Given the description of an element on the screen output the (x, y) to click on. 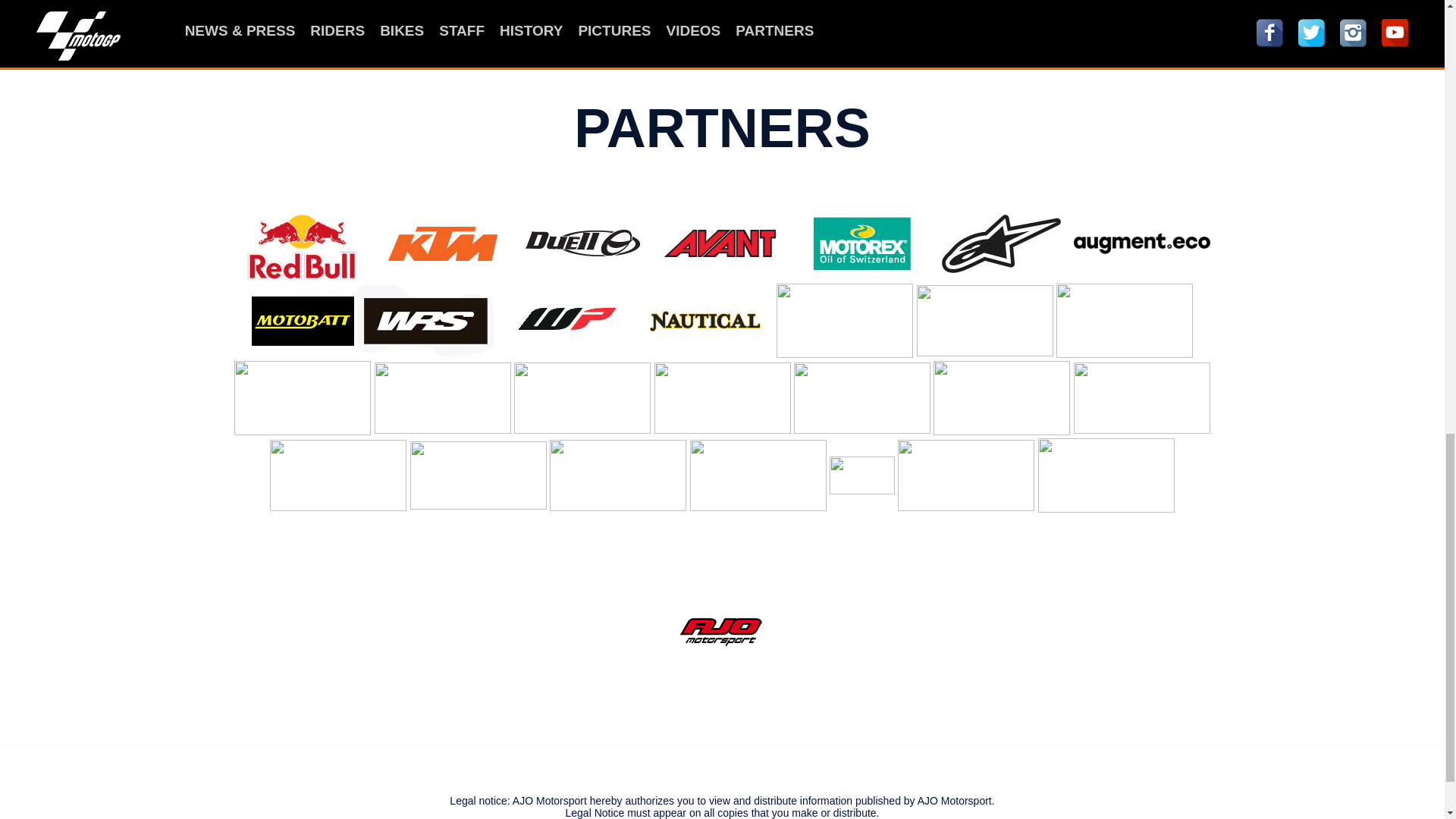
Moto (722, 631)
